Given the description of an element on the screen output the (x, y) to click on. 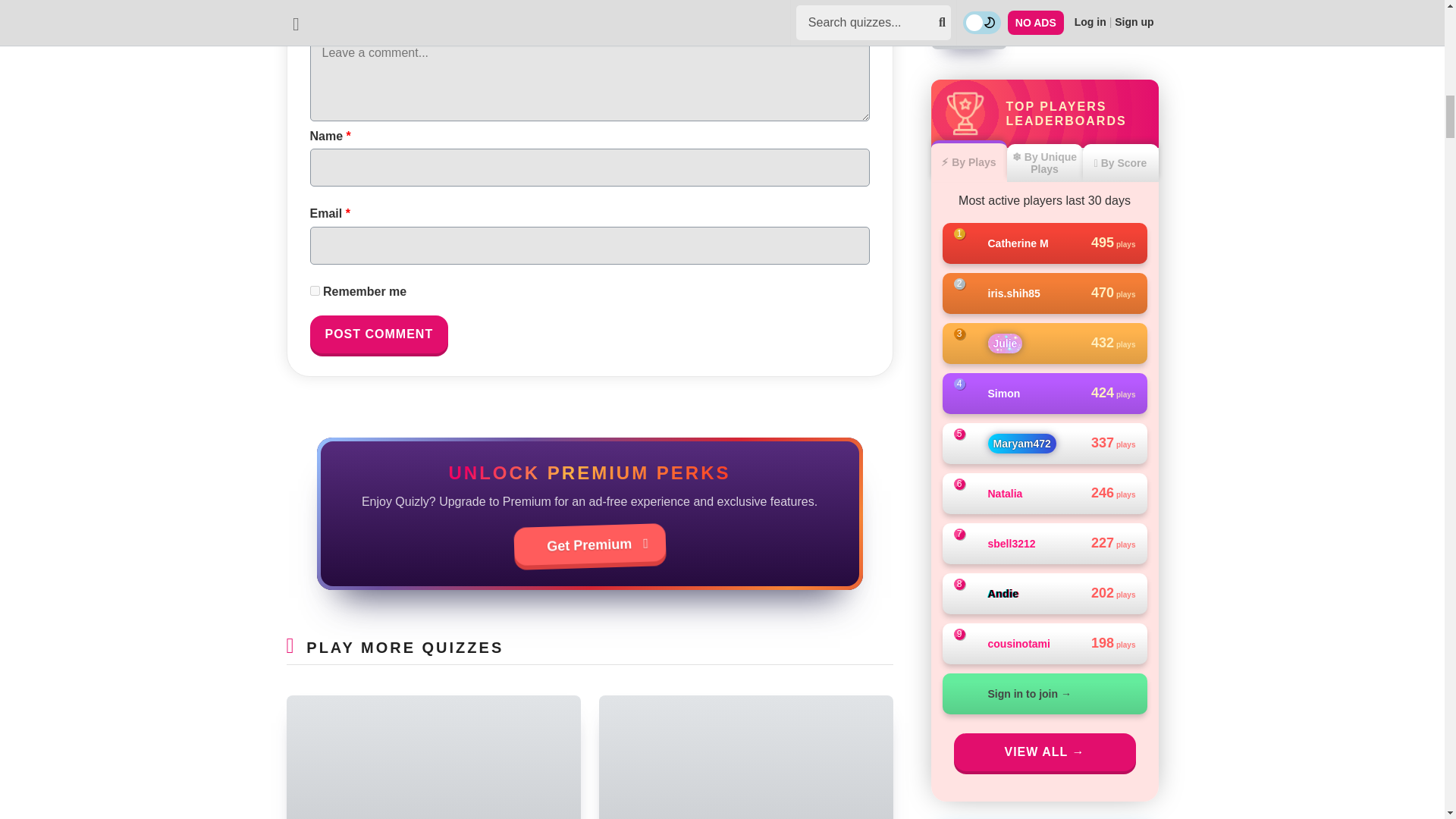
Post Comment (378, 333)
yes (313, 290)
